Given the description of an element on the screen output the (x, y) to click on. 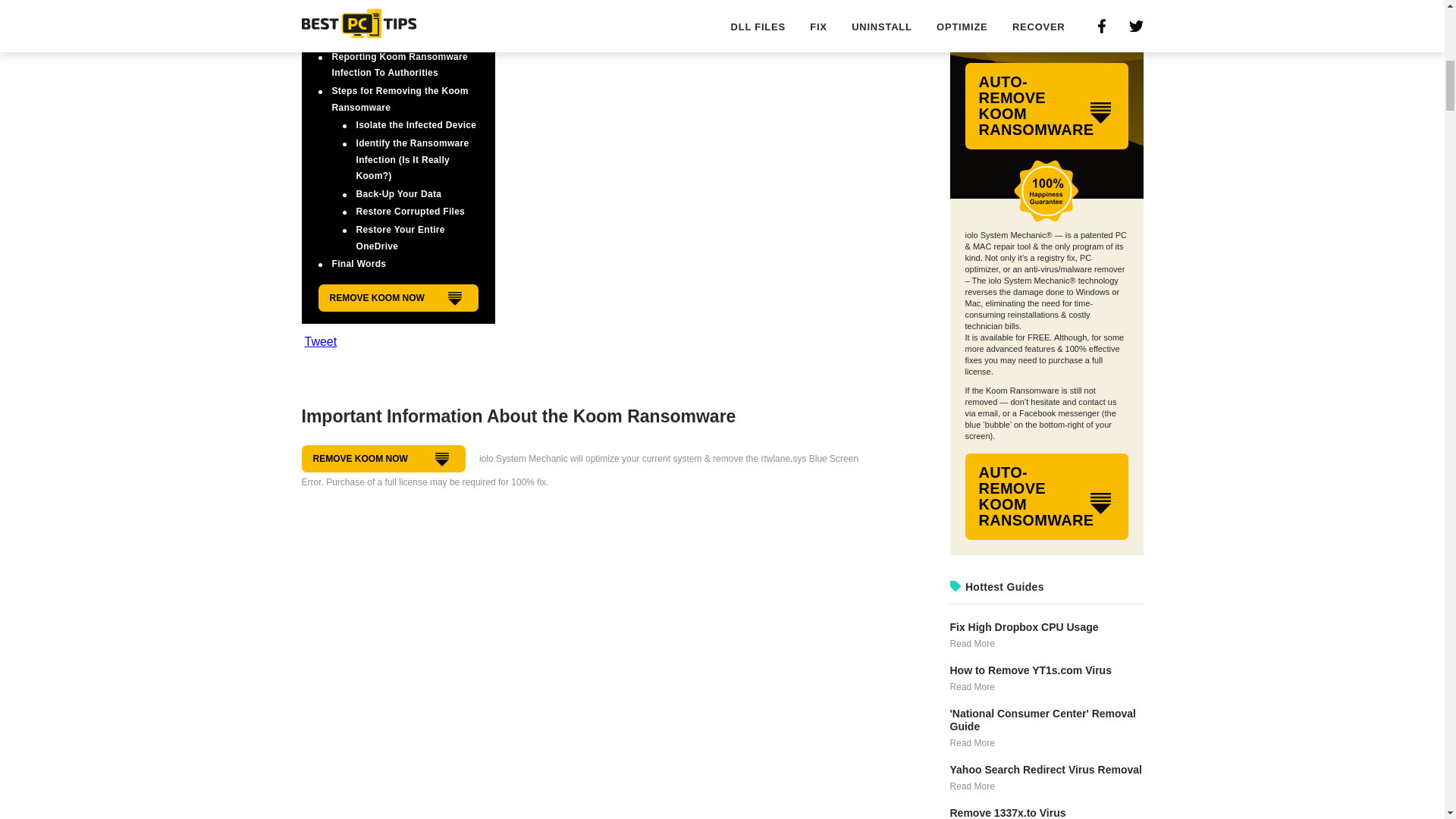
Tweet (320, 341)
Reporting Koom Ransomware Infection To Authorities (399, 64)
Back-Up Your Data (399, 194)
REMOVE KOOM NOW (398, 298)
Restore Corrupted Files (410, 211)
REMOVE KOOM NOW (383, 458)
Important Reminder and File Recovery (410, 31)
Steps for Removing the Koom Ransomware (399, 99)
Isolate the Infected Device (416, 124)
Restore Your Entire OneDrive (400, 237)
